Given the description of an element on the screen output the (x, y) to click on. 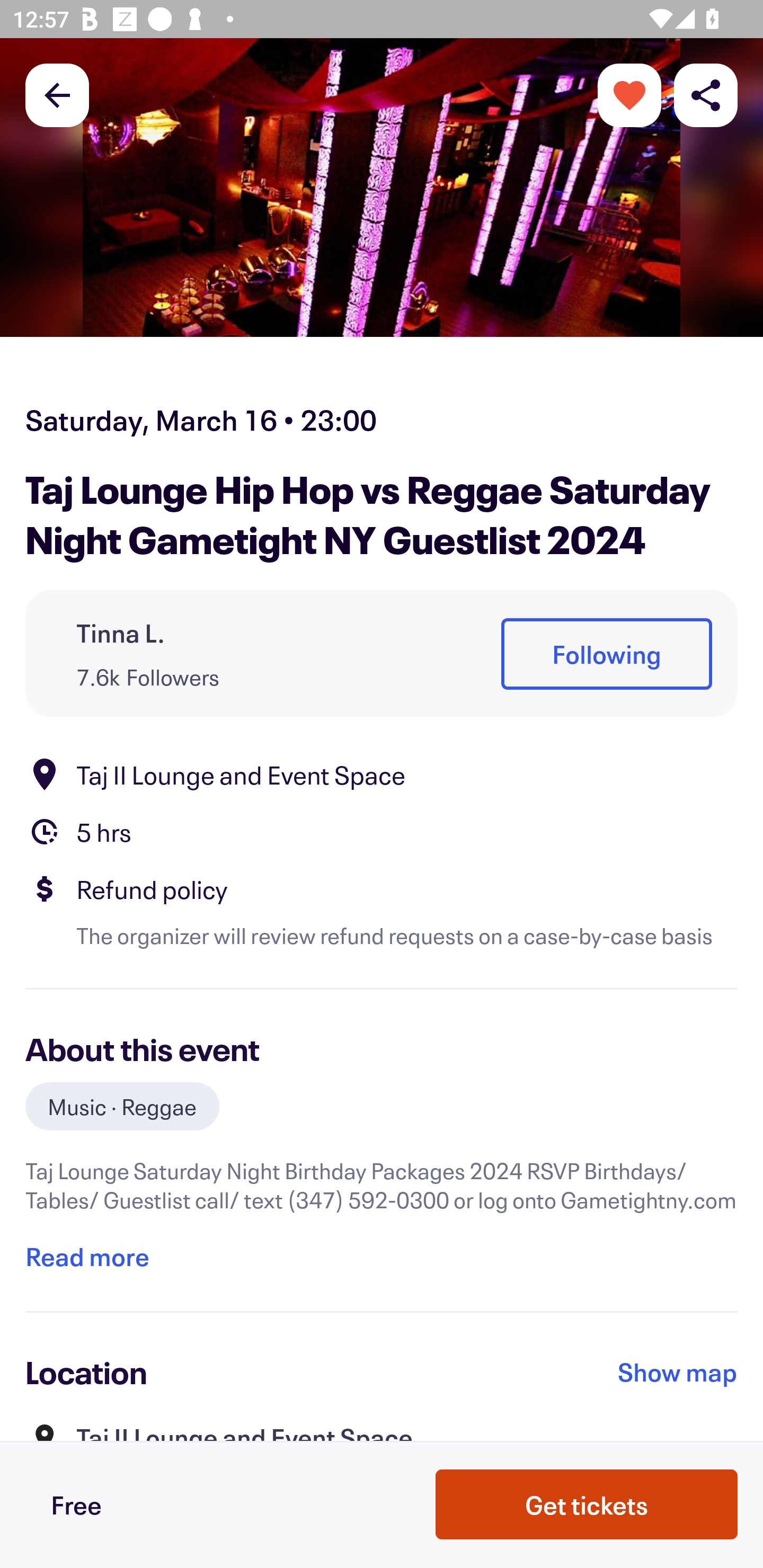
Back (57, 94)
More (629, 94)
Share (705, 94)
Tinna L. (120, 632)
Following (606, 654)
Location Taj II Lounge and Event Space (381, 774)
Read more (87, 1256)
Show map (677, 1371)
Get tickets (586, 1504)
